Given the description of an element on the screen output the (x, y) to click on. 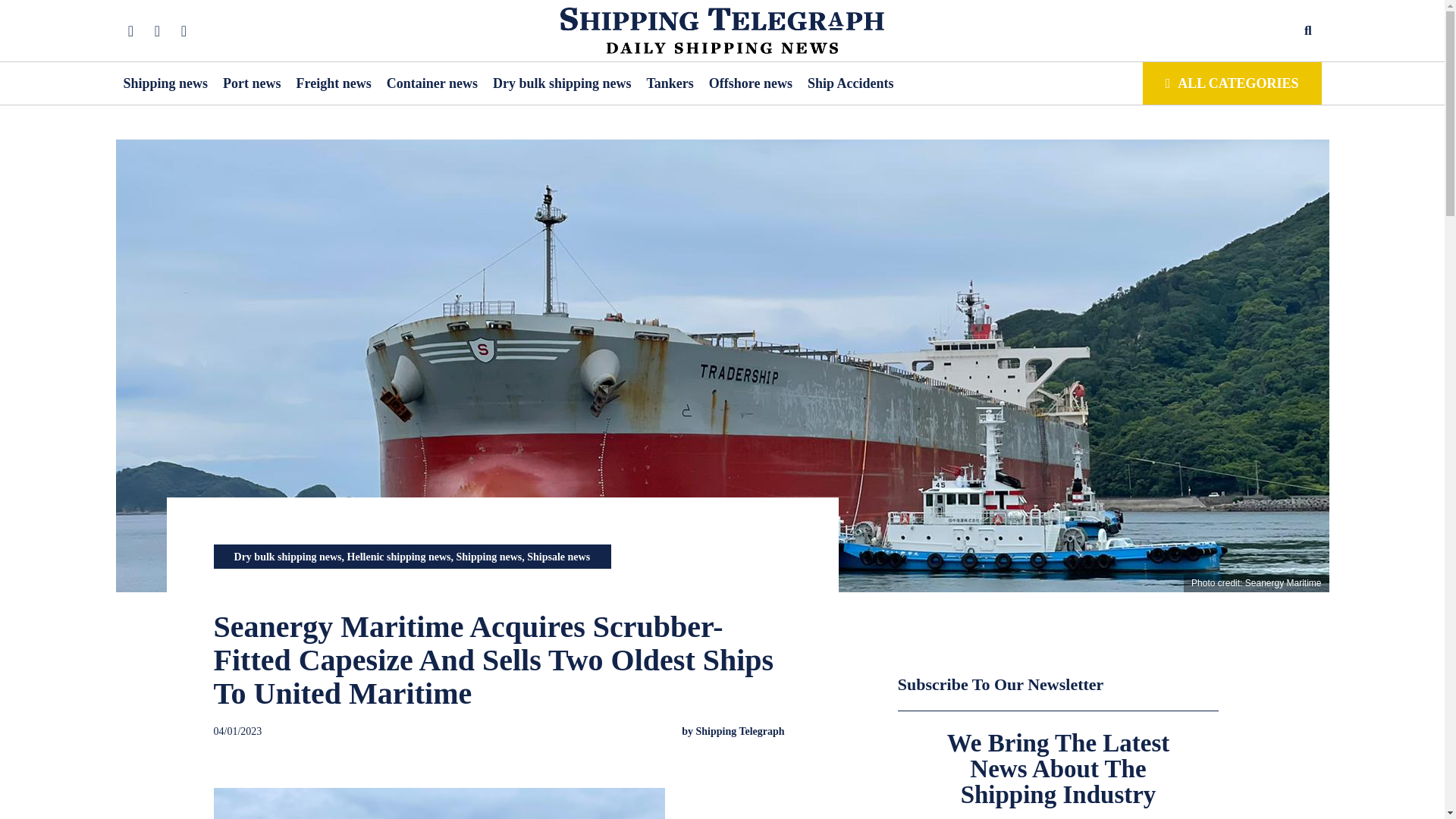
Shipsale news (558, 556)
Freight news (334, 83)
Dry bulk shipping news (562, 83)
Shipping news (488, 556)
Container news (432, 83)
Port news (251, 83)
Shipping news (165, 83)
Hellenic shipping news (399, 556)
Offshore news (750, 83)
Tankers (669, 83)
ALL CATEGORIES (1232, 83)
Ship Accidents (850, 83)
Dry bulk shipping news (288, 556)
